Given the description of an element on the screen output the (x, y) to click on. 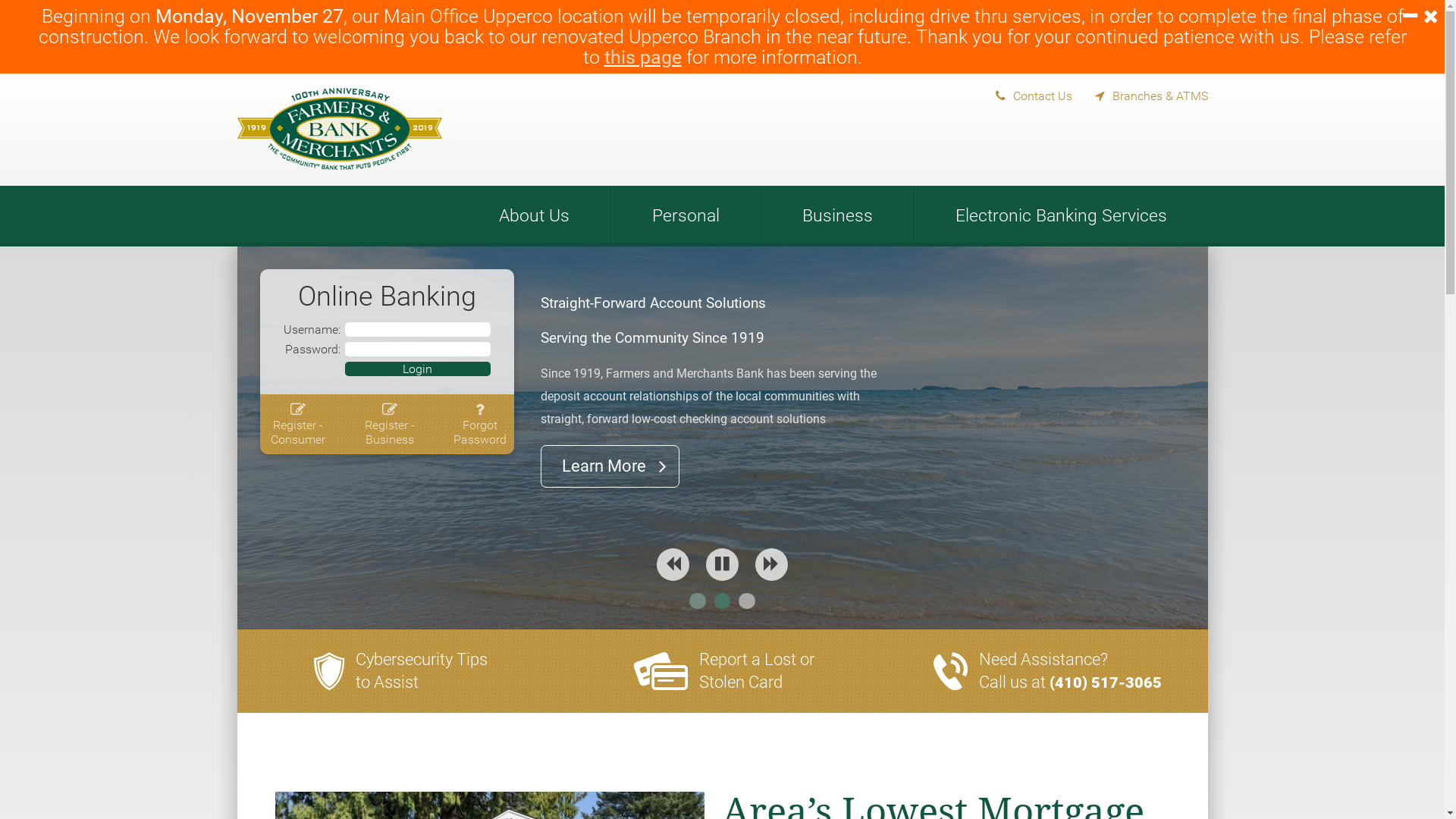
Search Element type: text (1188, 141)
2
Go to slide 2 Element type: text (722, 601)
Personal Element type: text (685, 213)
Cybersecurity Tips
to Assist Element type: text (421, 670)
Forgot
Password Element type: text (479, 424)
Report a Lost or
Stolen Card Element type: text (756, 670)
Login Element type: text (416, 368)
Register -
Consumer Element type: text (297, 424)
Branches & ATMS Element type: text (1140, 92)
About Us Element type: text (534, 213)
Next Element type: text (771, 564)
Register -
Business Element type: text (388, 424)
Contact Us Element type: text (1021, 92)
Pause Element type: text (722, 564)
3
Go to slide 3 Element type: text (746, 601)
this page Element type: text (641, 57)
Electronic Banking Services Element type: text (1061, 213)
(410) 517-3065 Element type: text (1105, 682)
Previous Element type: text (672, 564)
Learn More Element type: text (608, 476)
Business Element type: text (837, 213)
1
Go to slide 1 Element type: text (697, 601)
